Given the description of an element on the screen output the (x, y) to click on. 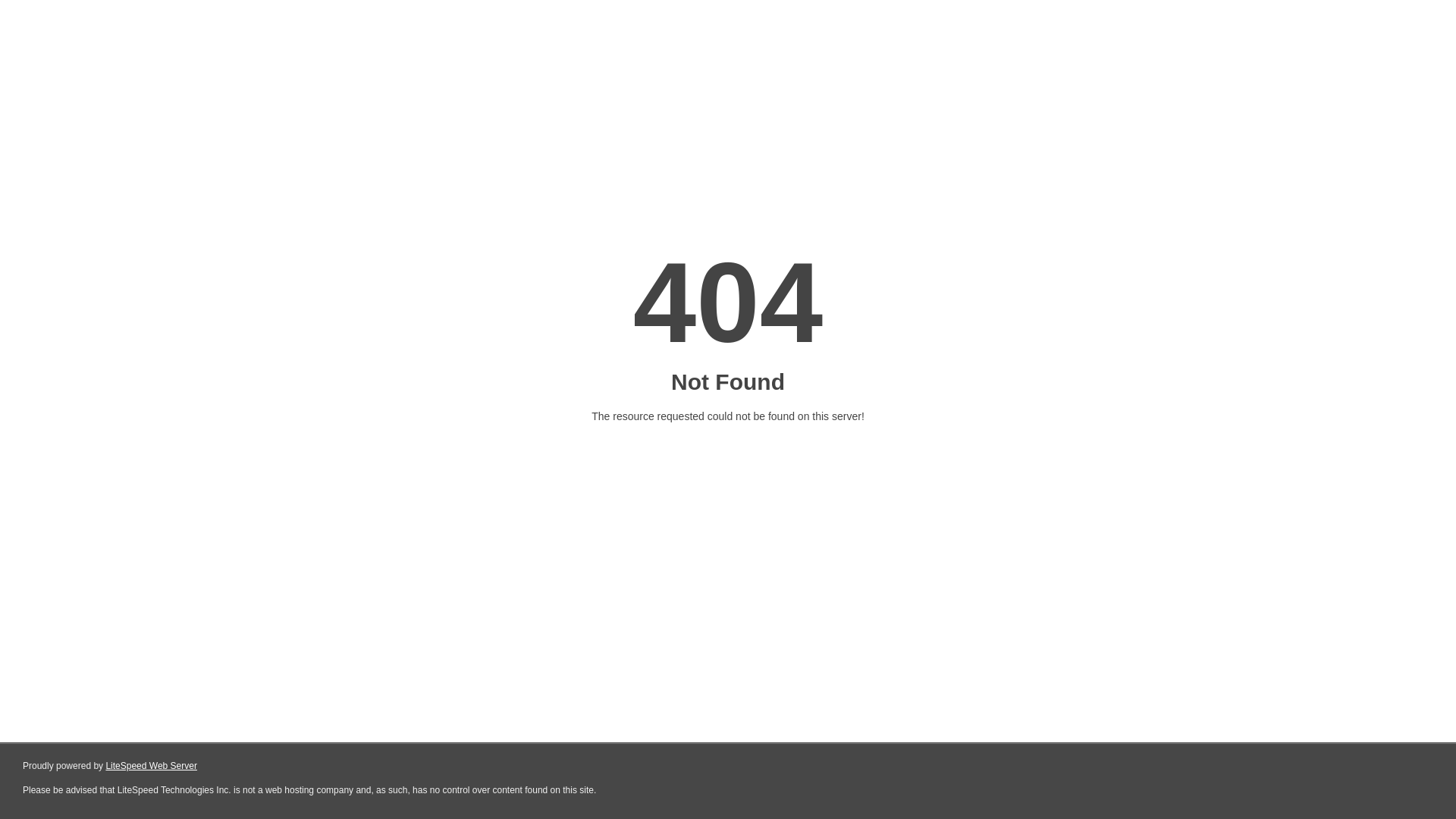
LiteSpeed Web Server (150, 765)
